Given the description of an element on the screen output the (x, y) to click on. 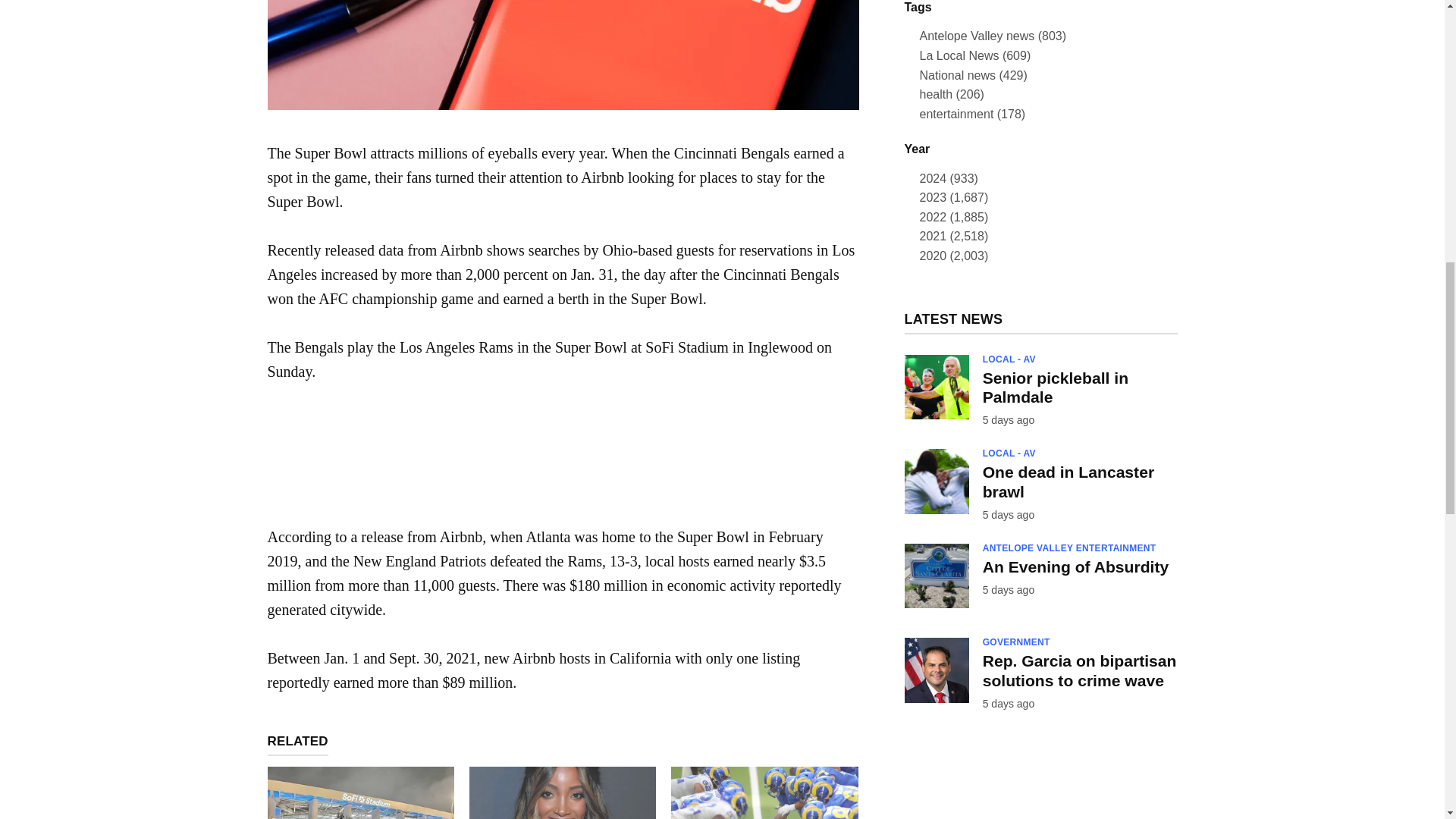
SoFi Stadium Super Bowl LXI (359, 792)
Mickey Guyton will perform national anthem at Super Bowl (562, 792)
